Given the description of an element on the screen output the (x, y) to click on. 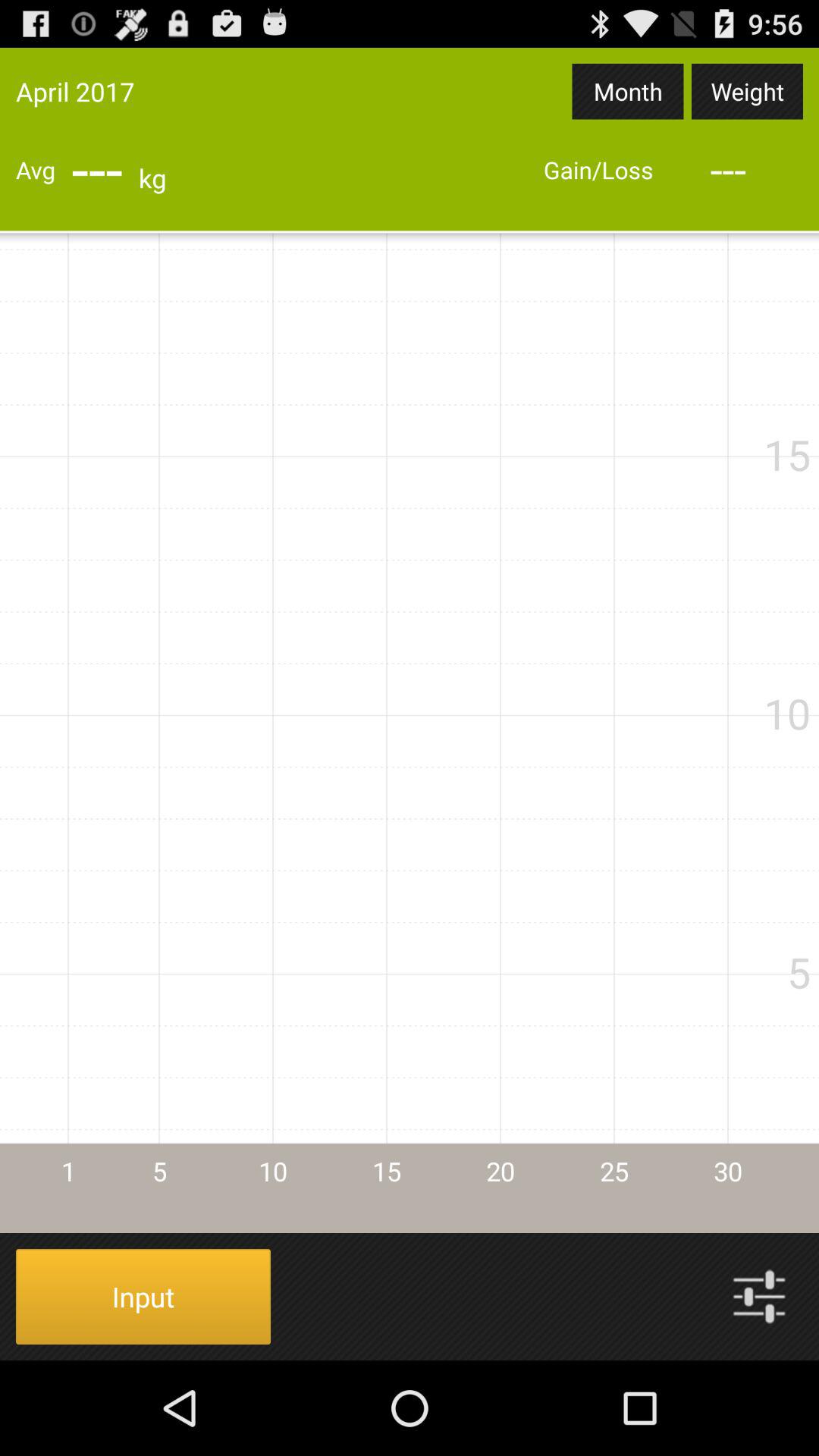
select the item next to the input button (759, 1296)
